Given the description of an element on the screen output the (x, y) to click on. 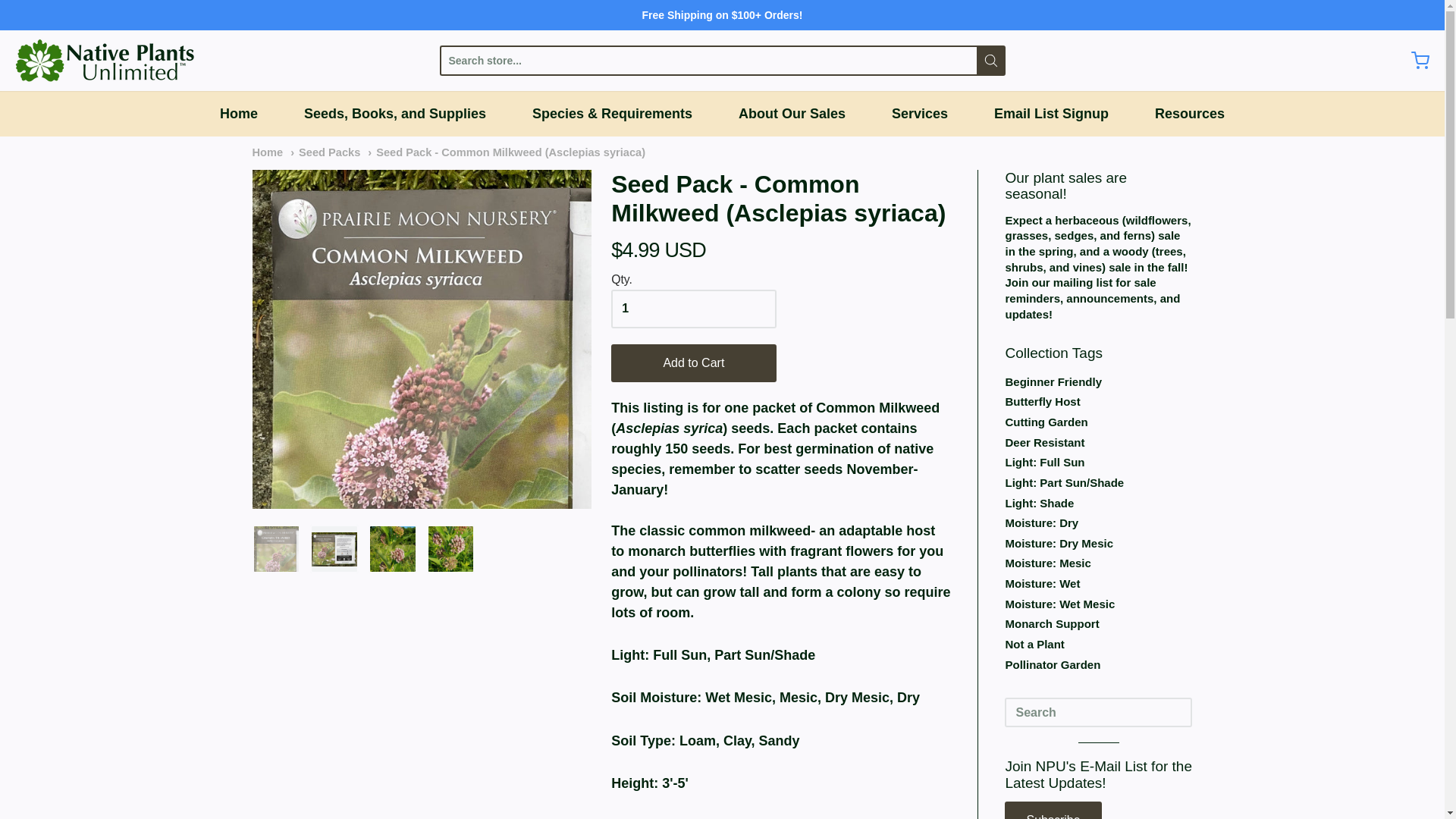
Email List Signup (1051, 113)
Resources (1189, 113)
Home (266, 152)
Seed Packs (324, 152)
1 (693, 308)
About Our Sales (791, 113)
Home (238, 113)
Seeds, Books, and Supplies (395, 113)
Native Plants Unlimited LLC (115, 60)
Services (919, 113)
